Given the description of an element on the screen output the (x, y) to click on. 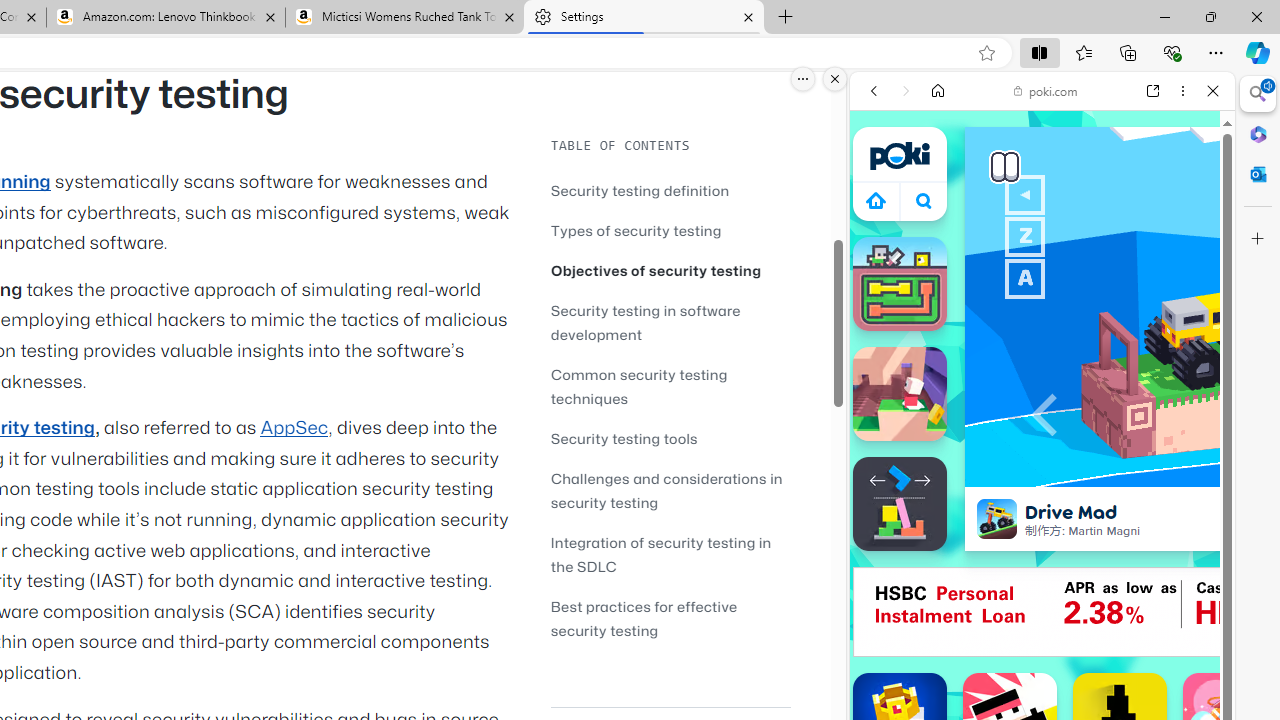
Two Player Games (1042, 567)
Sports Games (1042, 665)
Security testing definition (639, 190)
poki.com (1046, 90)
Car Games (1042, 470)
Car Games (1042, 469)
Shooting Games (1042, 519)
Class: B_5ykBA46kDOxiz_R9wm (923, 200)
Security testing in software development (670, 322)
Challenges and considerations in security testing (670, 489)
